Given the description of an element on the screen output the (x, y) to click on. 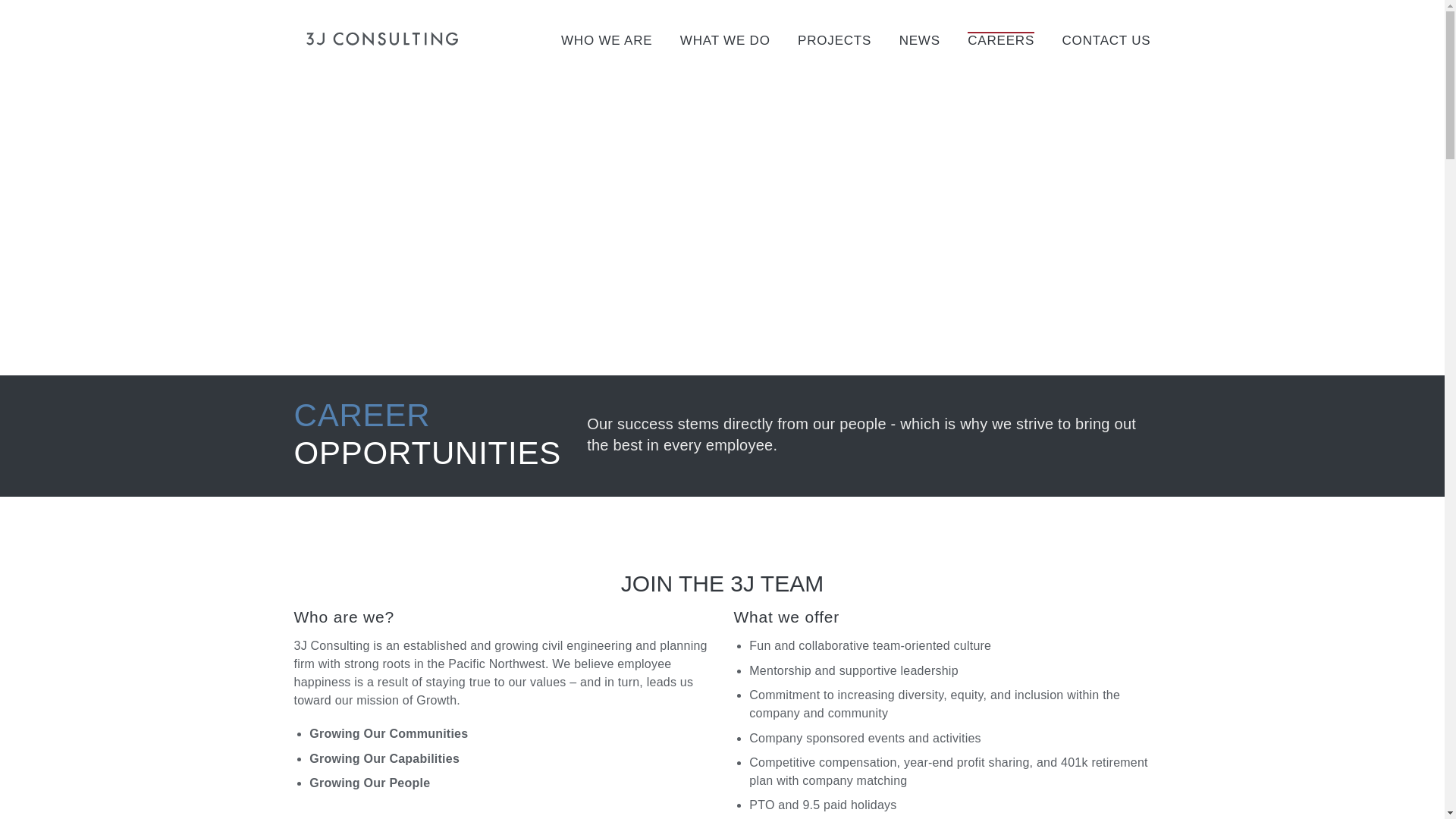
WHAT WE DO (724, 39)
WHO WE ARE (606, 39)
PROJECTS (833, 39)
CONTACT US (1106, 39)
NEWS (919, 39)
CAREERS (1000, 39)
